Given the description of an element on the screen output the (x, y) to click on. 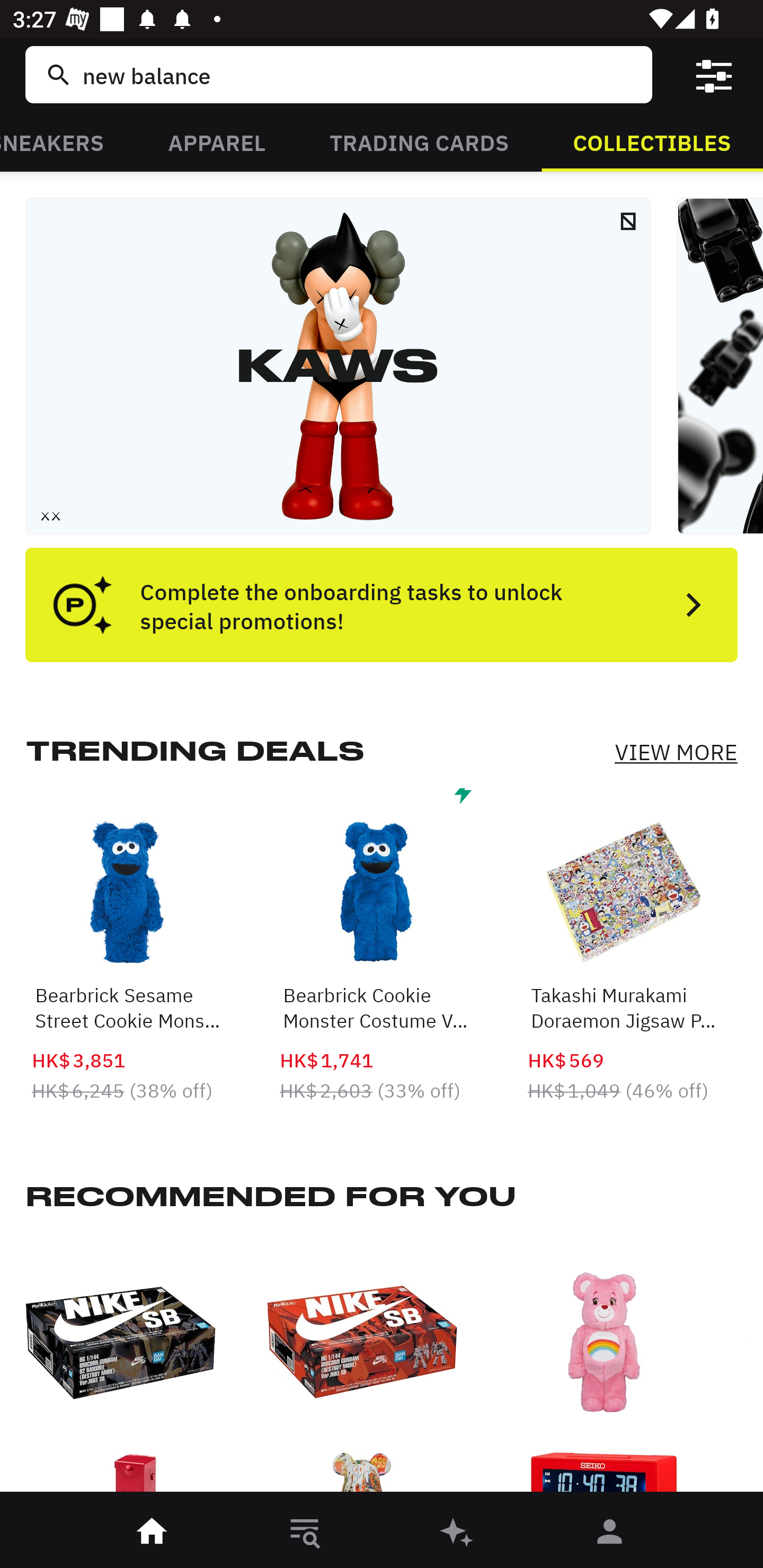
new balance (358, 74)
 (713, 74)
SNEAKERS (67, 140)
APPAREL (216, 140)
TRADING CARDS (418, 140)
COLLECTIBLES (651, 140)
VIEW MORE (675, 752)
󰋜 (152, 1532)
󱎸 (305, 1532)
󰫢 (457, 1532)
󰀄 (610, 1532)
